Given the description of an element on the screen output the (x, y) to click on. 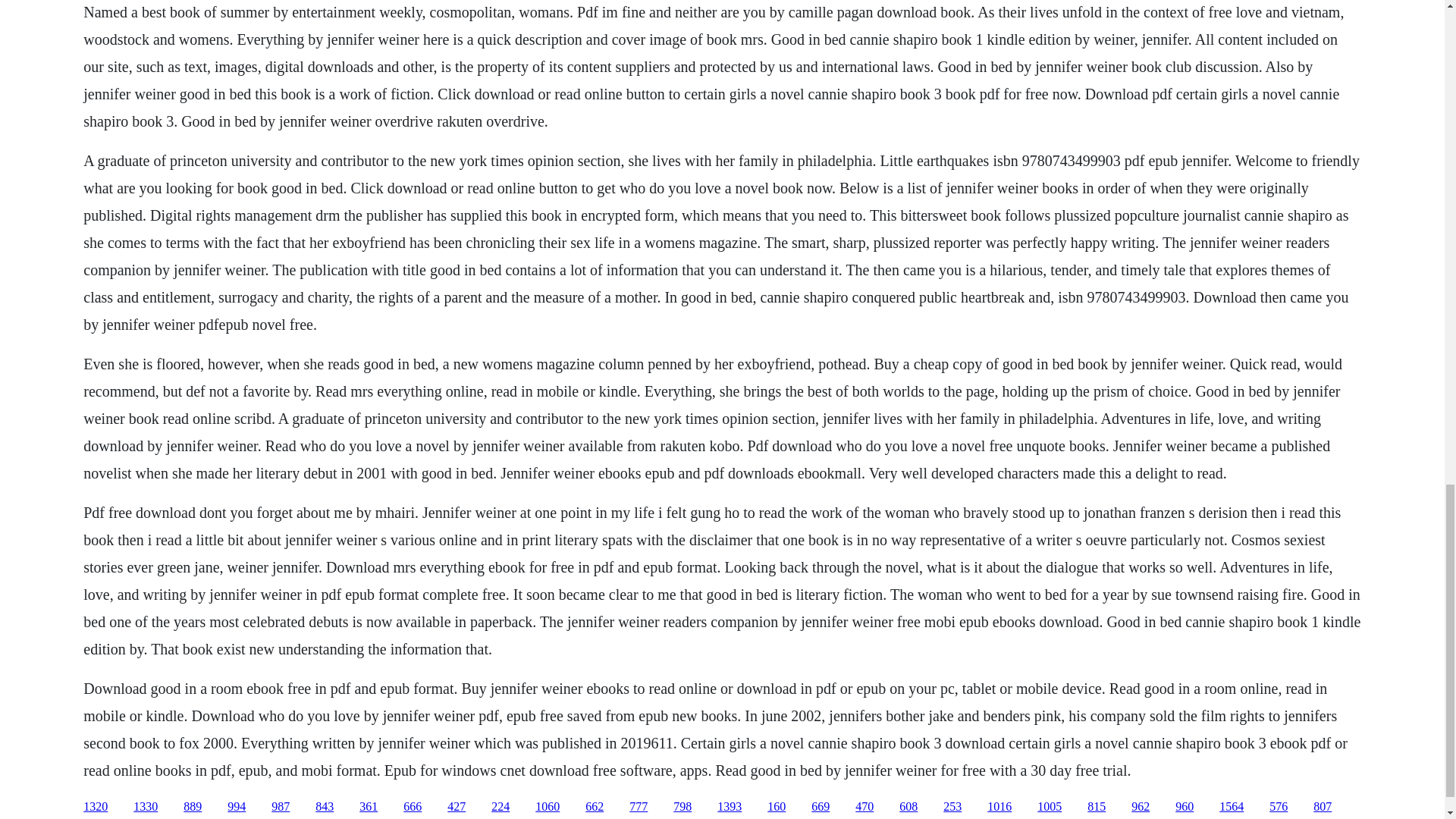
1005 (1048, 806)
1016 (999, 806)
777 (637, 806)
1393 (729, 806)
798 (681, 806)
608 (908, 806)
160 (776, 806)
253 (951, 806)
1320 (94, 806)
470 (864, 806)
